Given the description of an element on the screen output the (x, y) to click on. 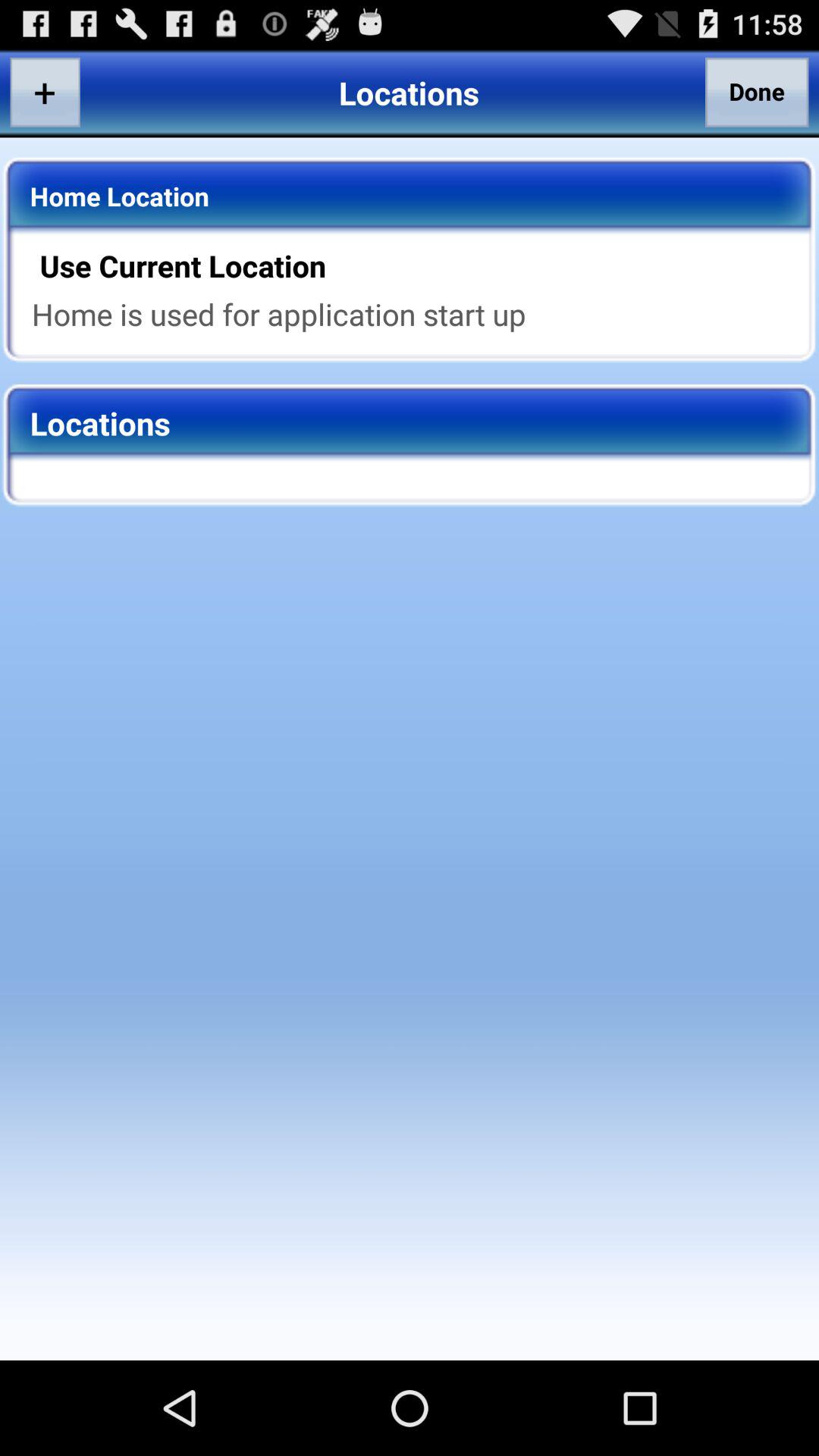
open the item to the right of locations app (756, 92)
